Given the description of an element on the screen output the (x, y) to click on. 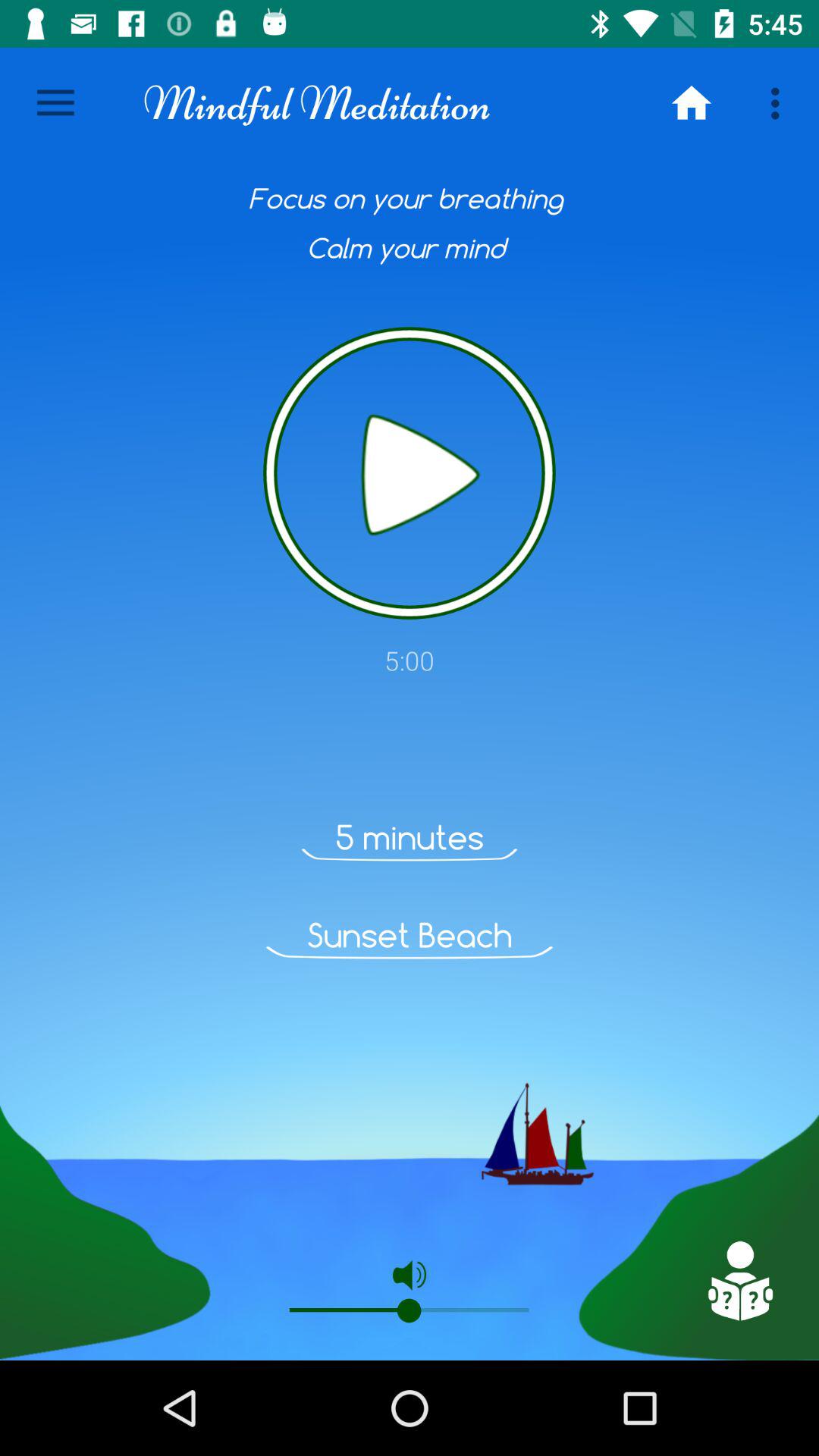
play sound (409, 472)
